Given the description of an element on the screen output the (x, y) to click on. 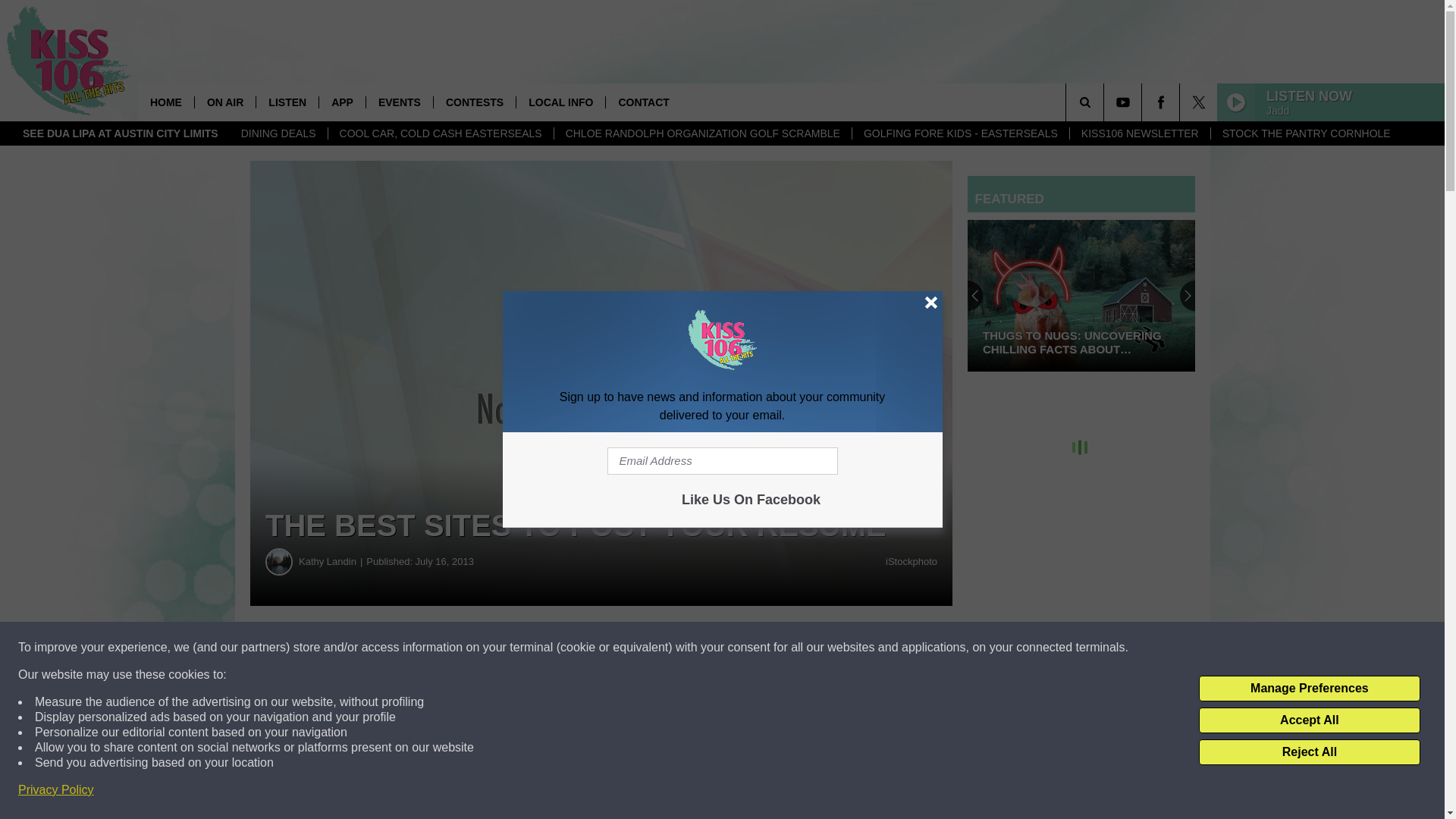
GOLFING FORE KIDS - EASTERSEALS (959, 133)
Share on Twitter (741, 647)
KISS106 NEWSLETTER (1138, 133)
SEE DUA LIPA AT AUSTIN CITY LIMITS (120, 133)
SEARCH (1106, 102)
Share on Facebook (460, 647)
DINING DEALS (278, 133)
Email Address (722, 461)
Reject All (1309, 751)
Privacy Policy (55, 789)
HOME (165, 102)
ON AIR (224, 102)
Accept All (1309, 720)
LISTEN (287, 102)
Manage Preferences (1309, 688)
